Given the description of an element on the screen output the (x, y) to click on. 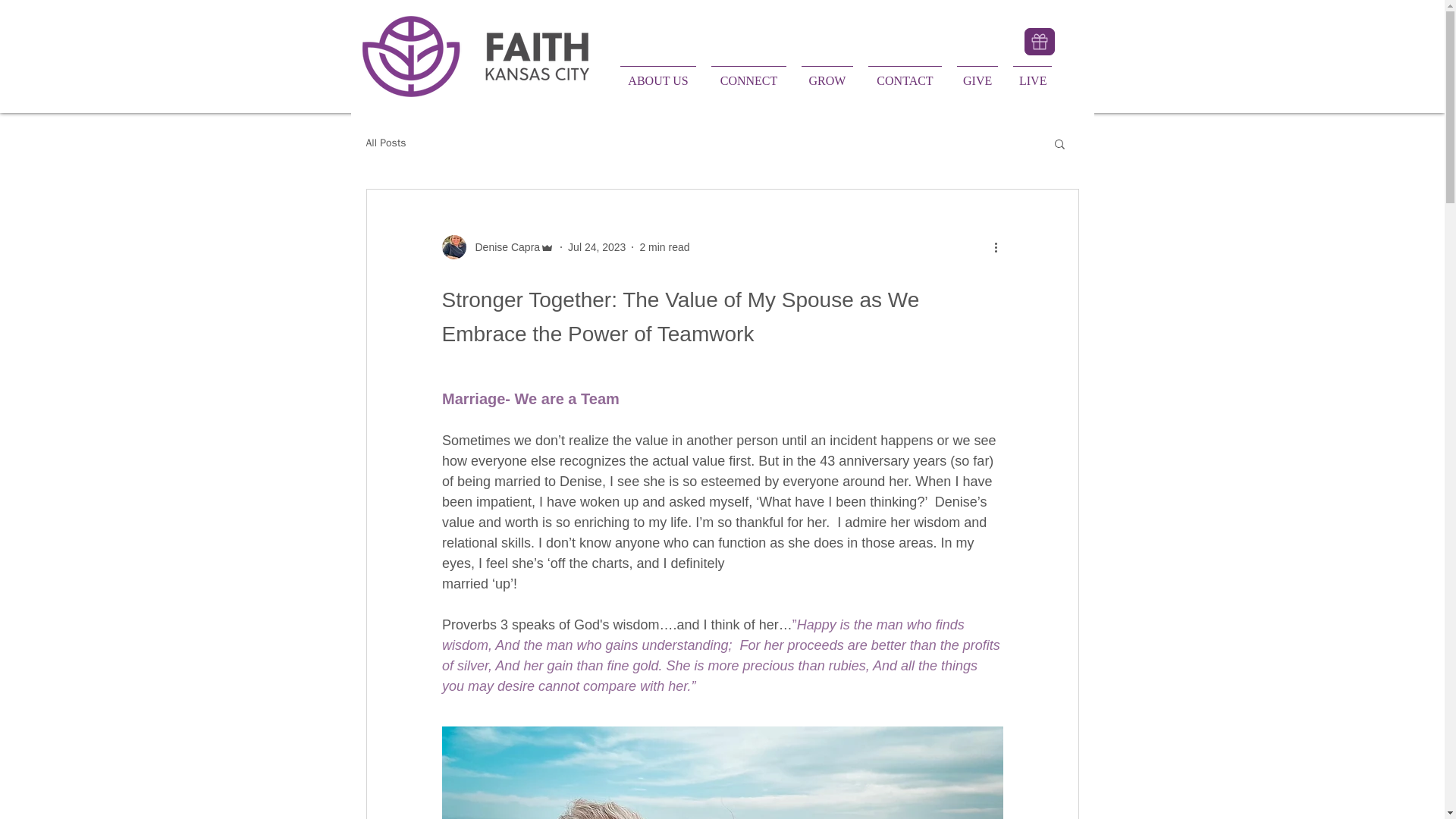
All Posts (385, 142)
GIVE (977, 73)
2 min read (663, 246)
CONTACT (904, 73)
CONNECT (748, 73)
GROW (826, 73)
LIVE (1032, 73)
Denise Capra (502, 247)
ABOUT US (657, 73)
Denise Capra (497, 247)
